Given the description of an element on the screen output the (x, y) to click on. 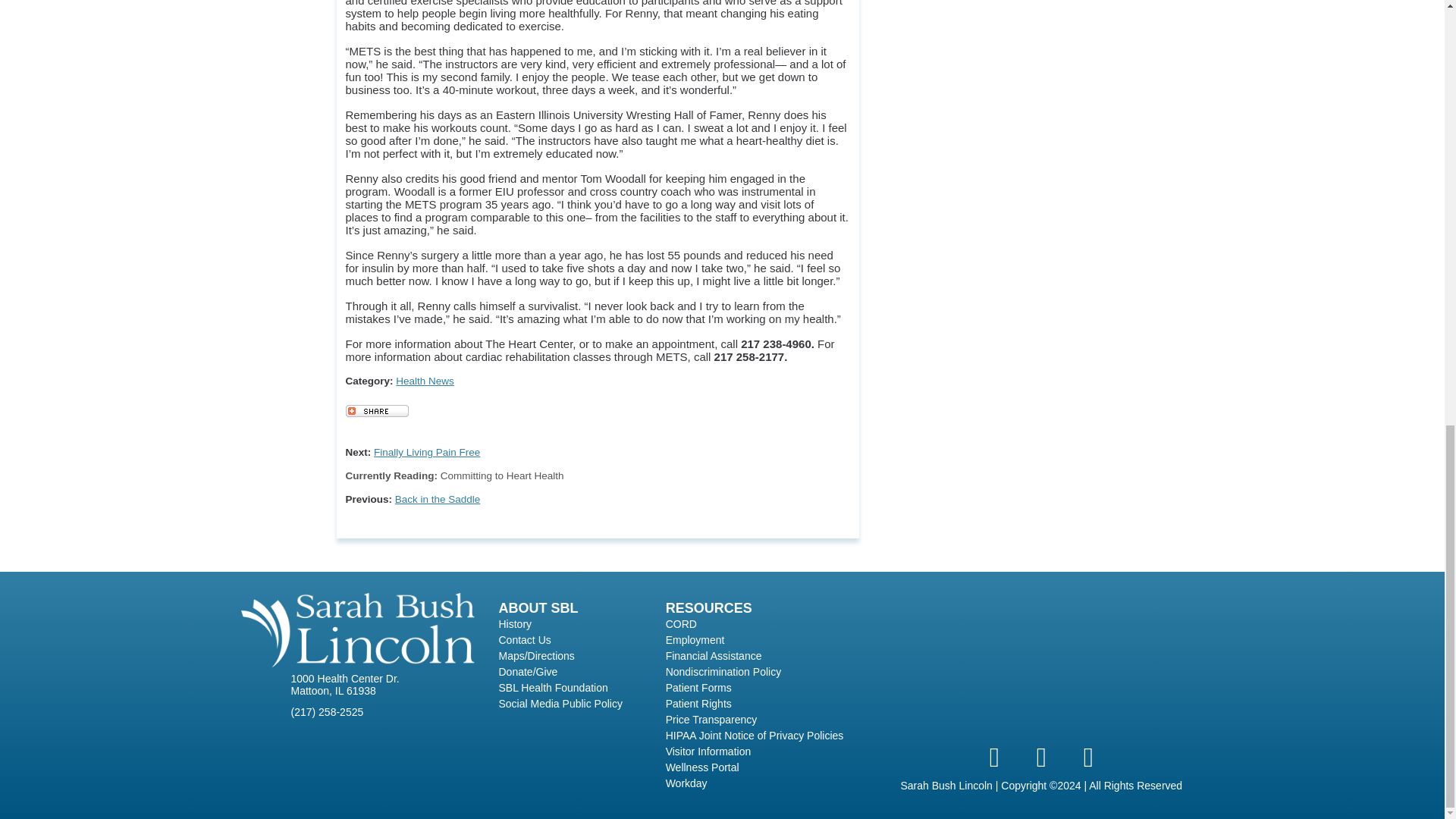
Facebook (993, 757)
Instagram (1040, 757)
LinkedIn (1088, 757)
